Given the description of an element on the screen output the (x, y) to click on. 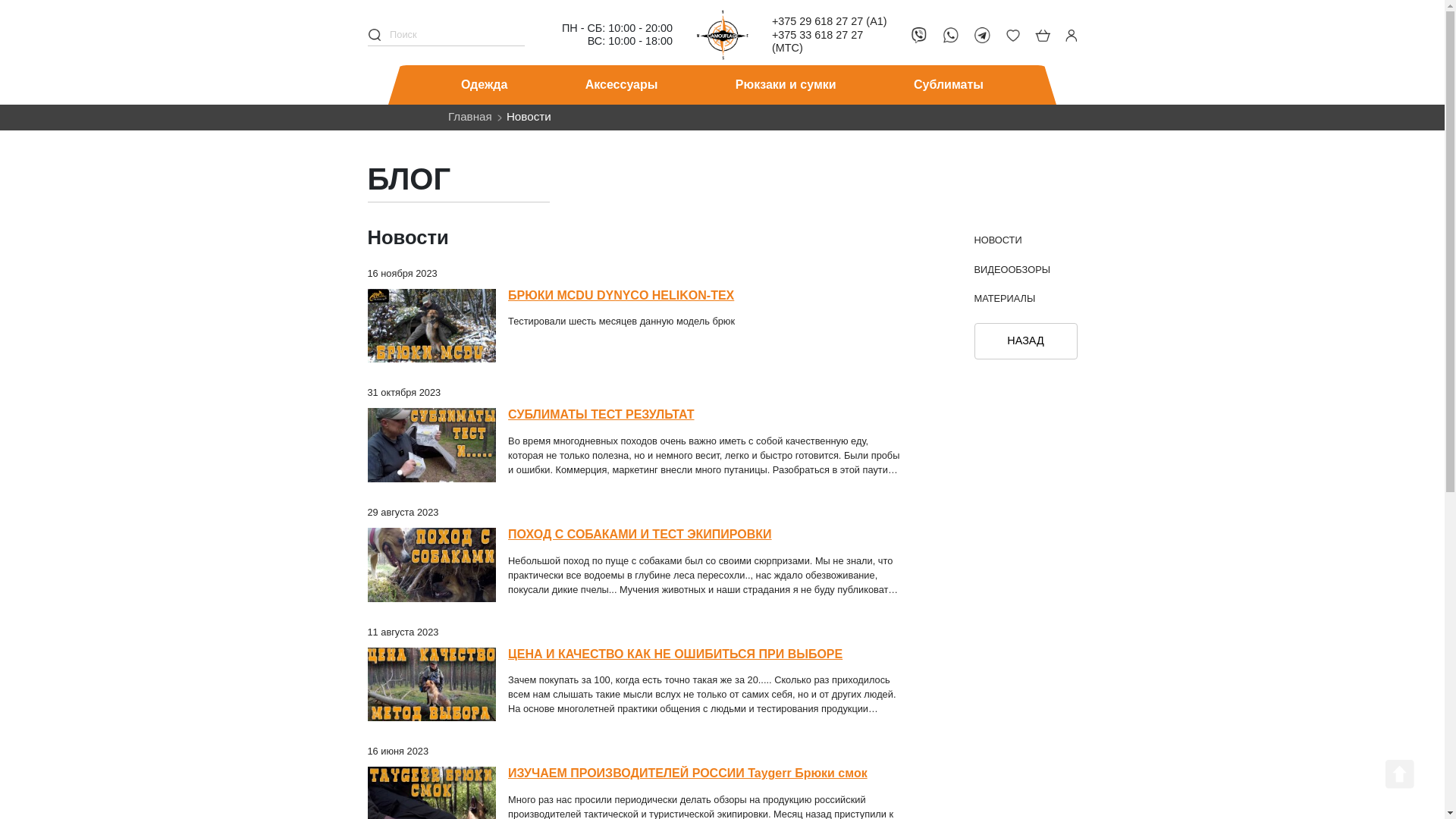
Whatsapp Element type: hover (1187, 42)
Viber Element type: hover (1148, 42)
Telegram Element type: hover (1227, 42)
